Given the description of an element on the screen output the (x, y) to click on. 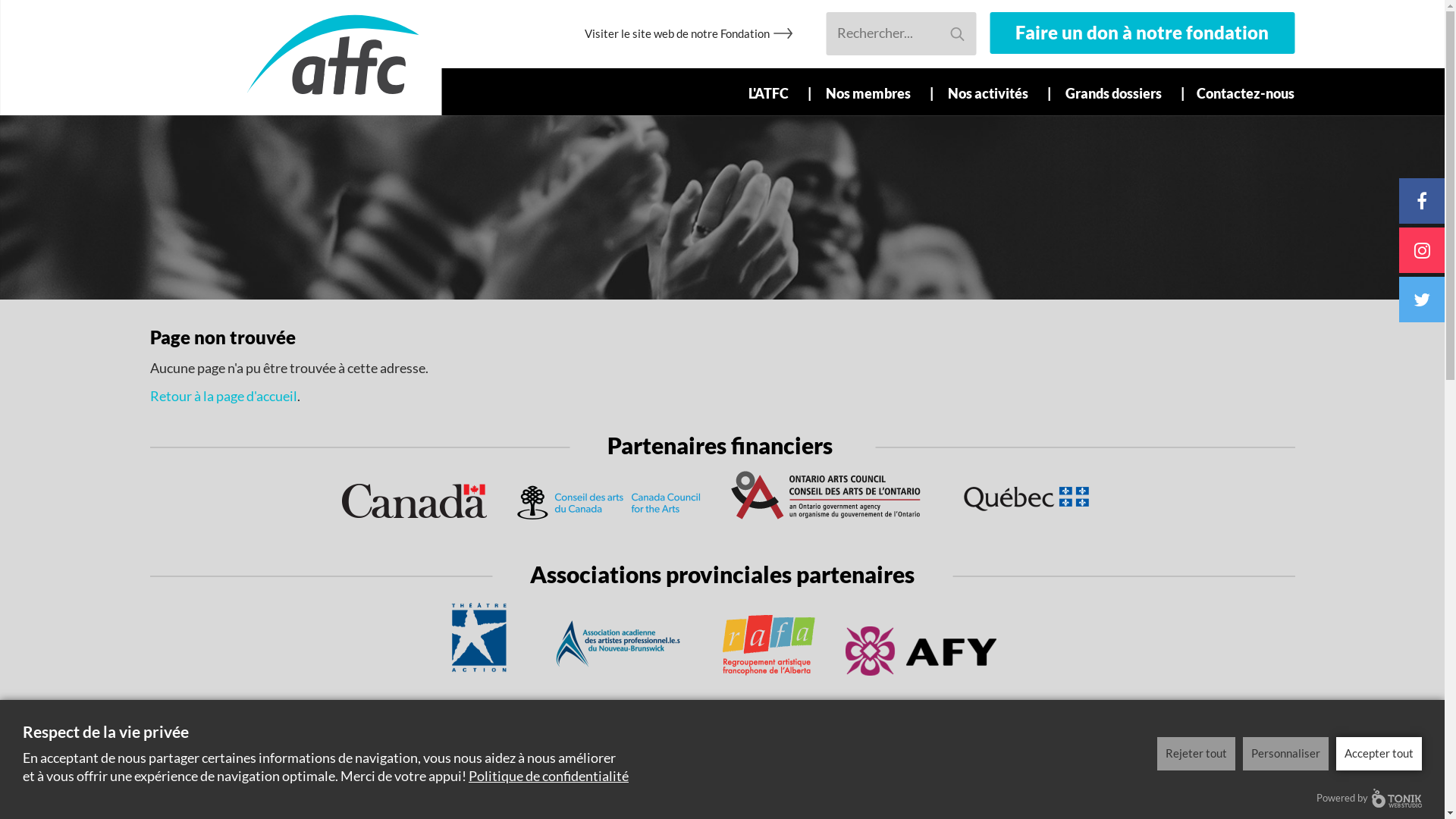
L'ATFC Element type: text (772, 91)
Contactez-nous Element type: text (1239, 93)
Accepter tout Element type: text (1378, 753)
Grands dossiers Element type: text (1117, 91)
Personnaliser Element type: text (1285, 753)
Nos membres Element type: text (872, 91)
Visiter le site web de notre Fondation Element type: text (677, 33)
Rejeter tout Element type: text (1196, 753)
Powered by Element type: text (1368, 797)
